Given the description of an element on the screen output the (x, y) to click on. 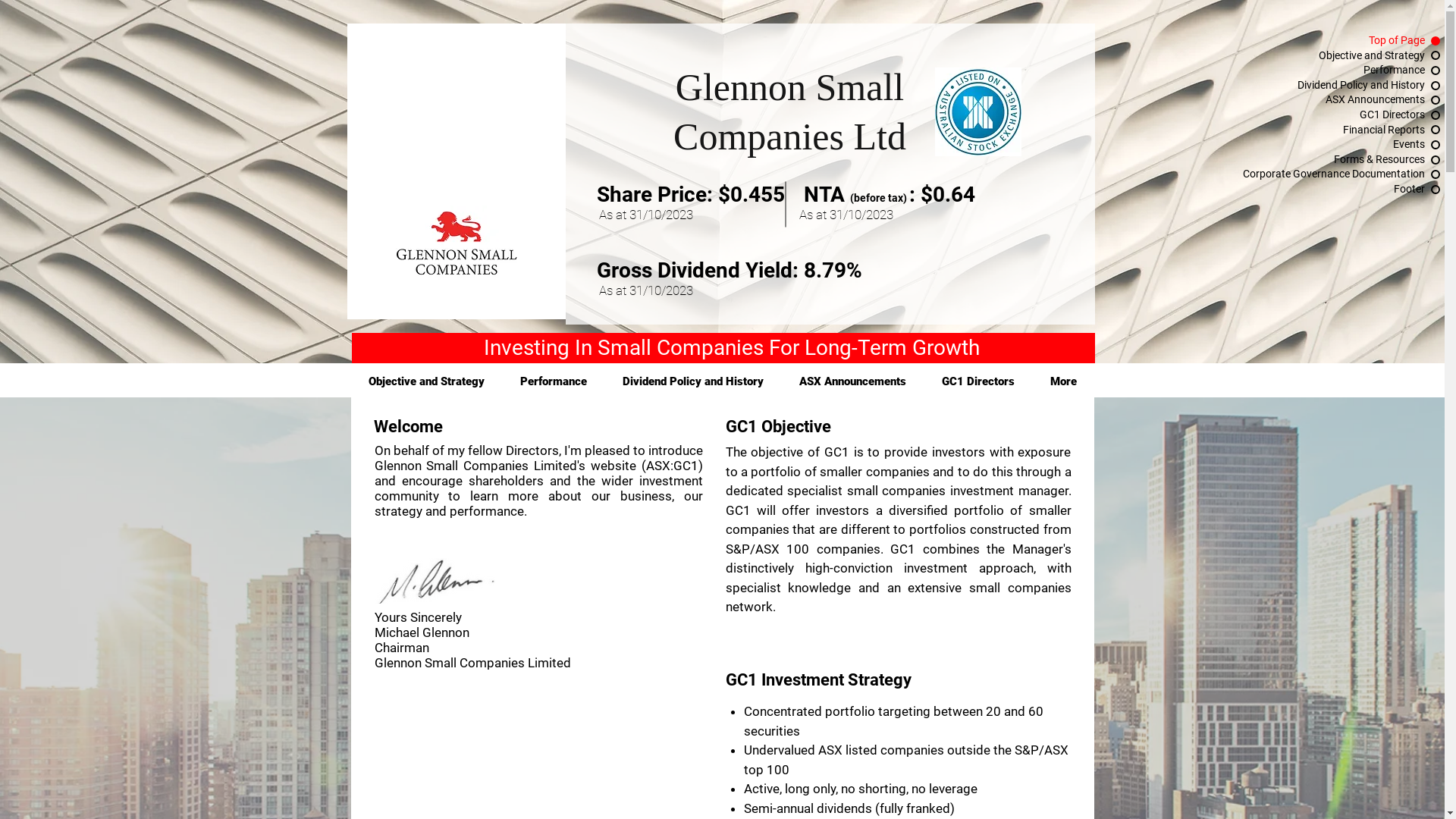
Companies Ltd Element type: text (789, 136)
Financial Reports Element type: text (1305, 130)
Events Element type: text (1305, 144)
Performance Element type: text (553, 381)
Performance Element type: text (1305, 70)
Dividend Policy and History Element type: text (1305, 85)
Dividend Policy and History Element type: text (693, 381)
Forms & Resources Element type: text (1305, 159)
ASX Announcements Element type: text (852, 381)
Corporate Governance Documentation Element type: text (1305, 174)
ASX Announcements Element type: text (1305, 99)
Objective and Strategy Element type: text (1305, 55)
Glennon Small Element type: text (789, 86)
GC1 Directors Element type: text (1305, 114)
GC1 Directors Element type: text (977, 381)
Top of Page Element type: text (1305, 40)
Objective and Strategy Element type: text (426, 381)
Footer Element type: text (1305, 189)
